Given the description of an element on the screen output the (x, y) to click on. 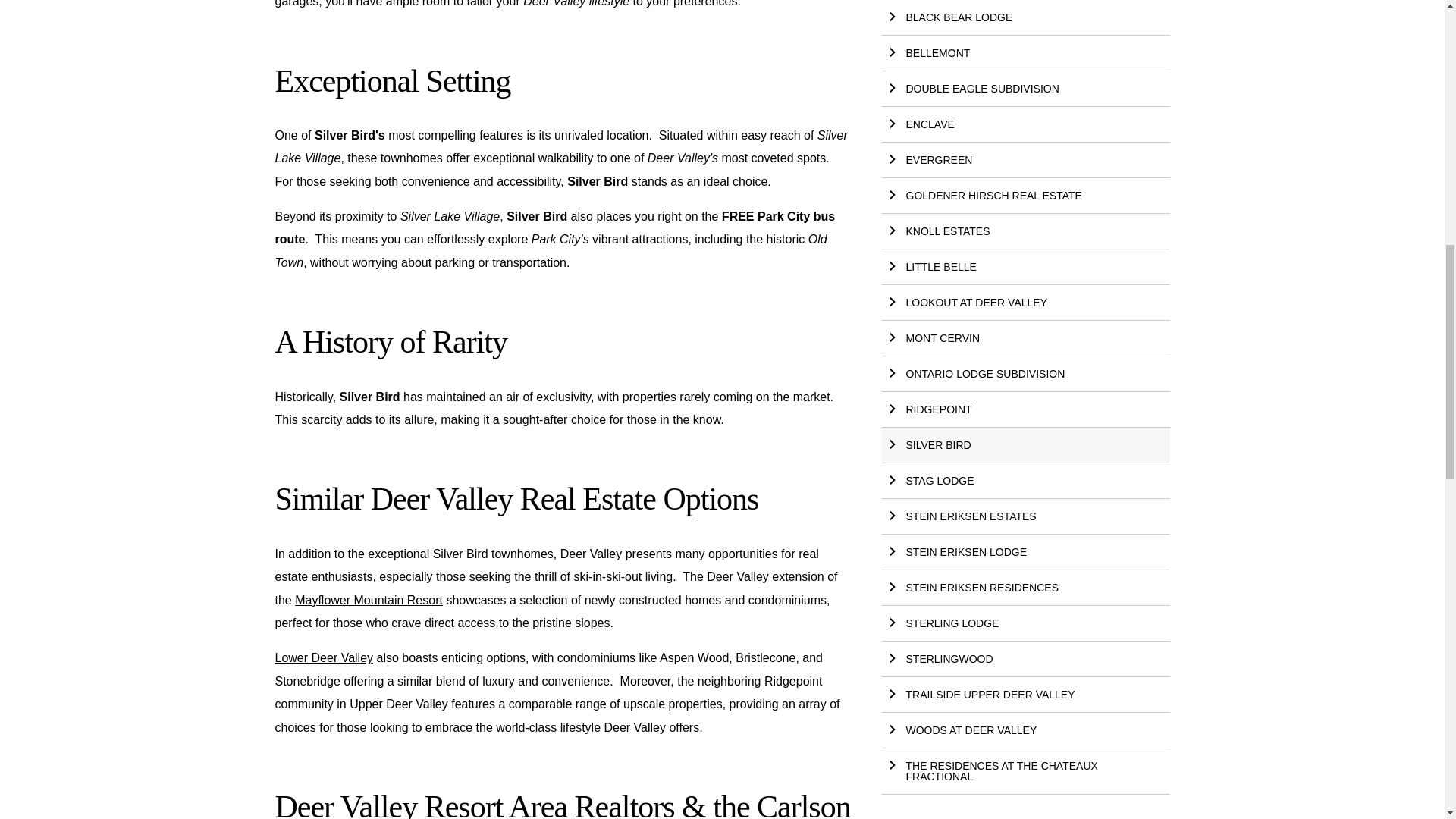
Lower Deer Valley (323, 657)
Mayflower Mountain Resort (368, 599)
ski-in-ski-out (607, 576)
